Given the description of an element on the screen output the (x, y) to click on. 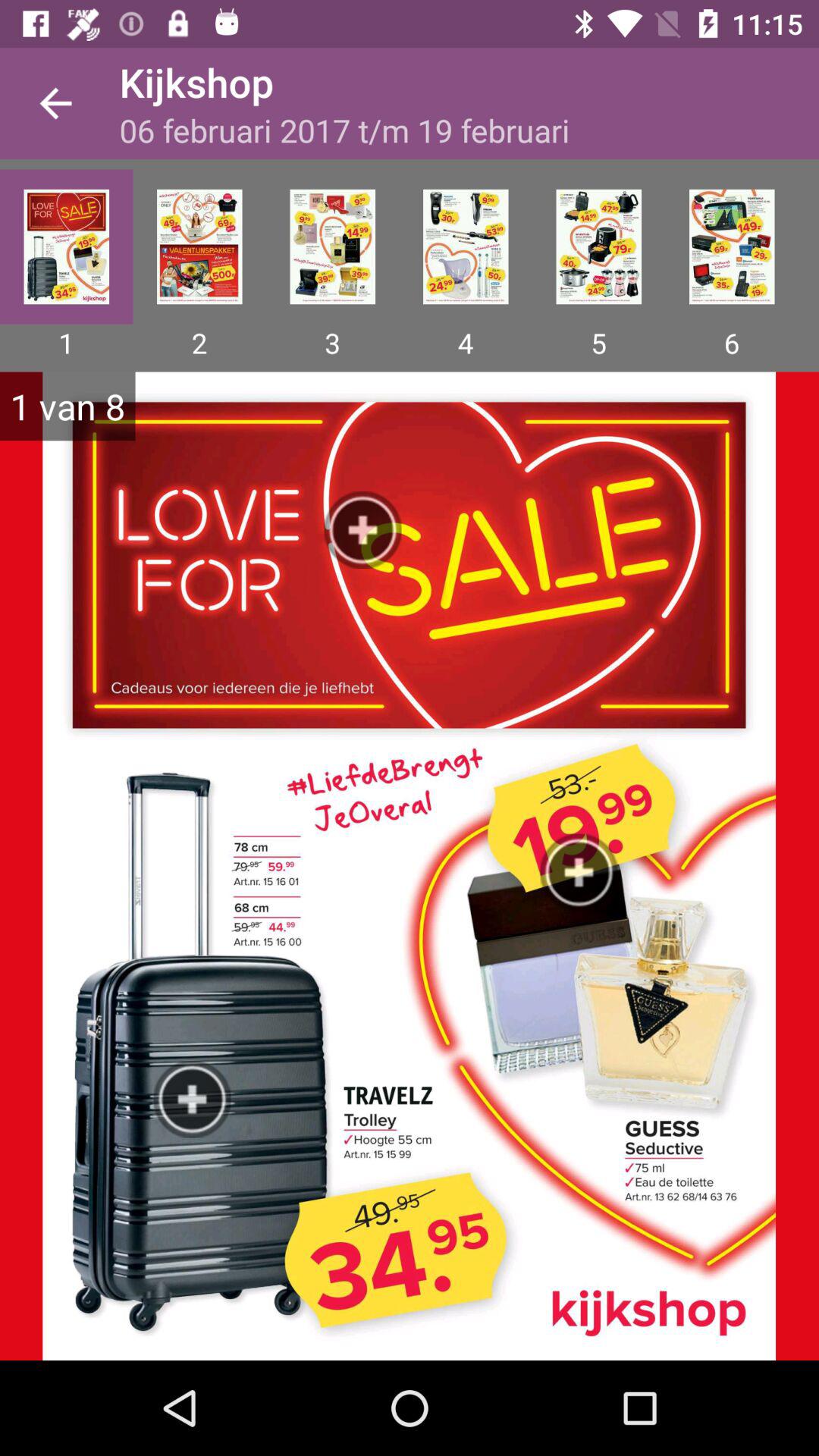
page 4 (465, 246)
